Given the description of an element on the screen output the (x, y) to click on. 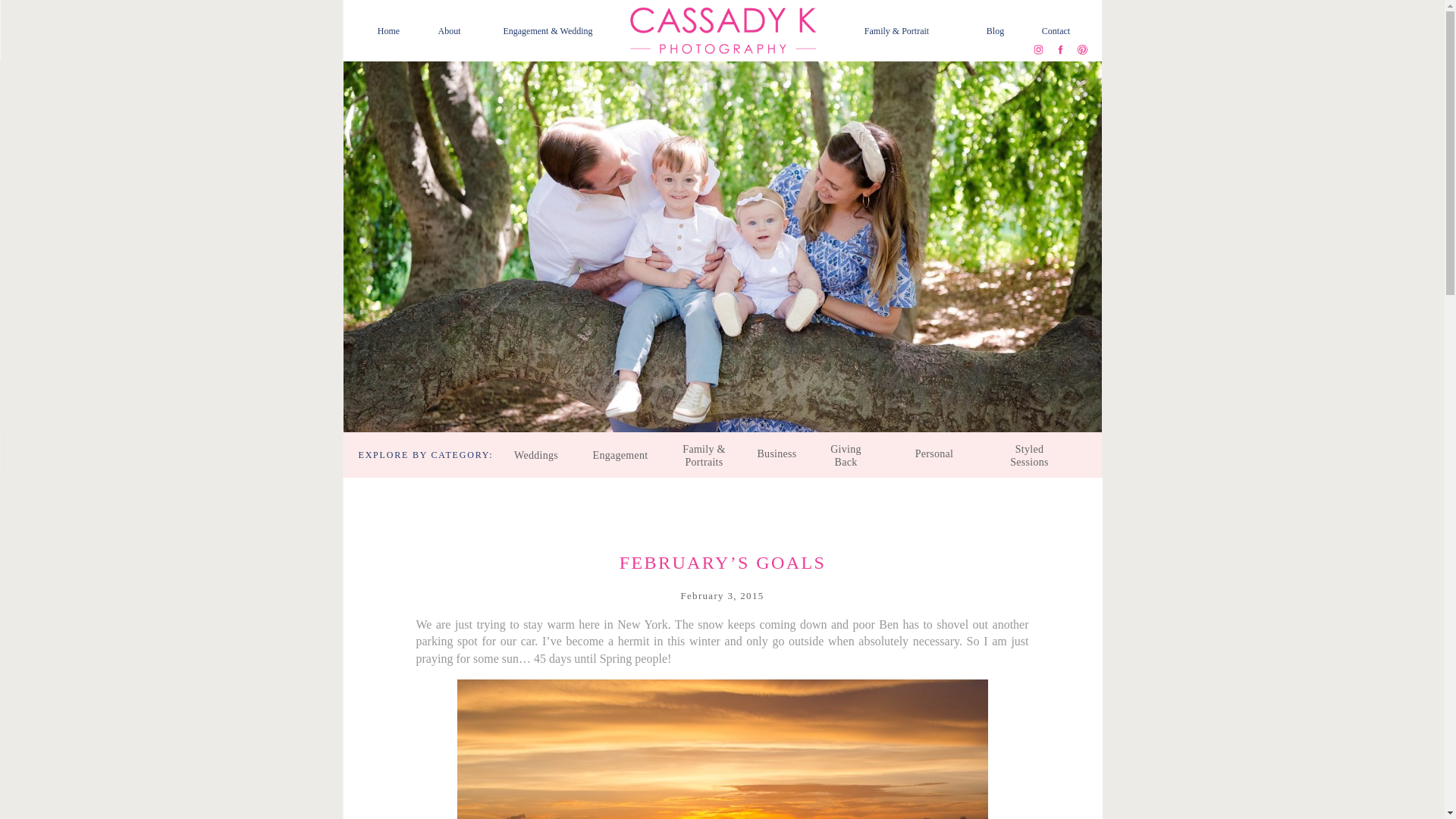
Home (388, 31)
Business (776, 454)
Giving Back (846, 454)
Engagement (620, 455)
Personal (933, 454)
Contact (1056, 31)
Blog (995, 31)
Styled Sessions (1029, 454)
About (449, 31)
Weddings (535, 455)
